Given the description of an element on the screen output the (x, y) to click on. 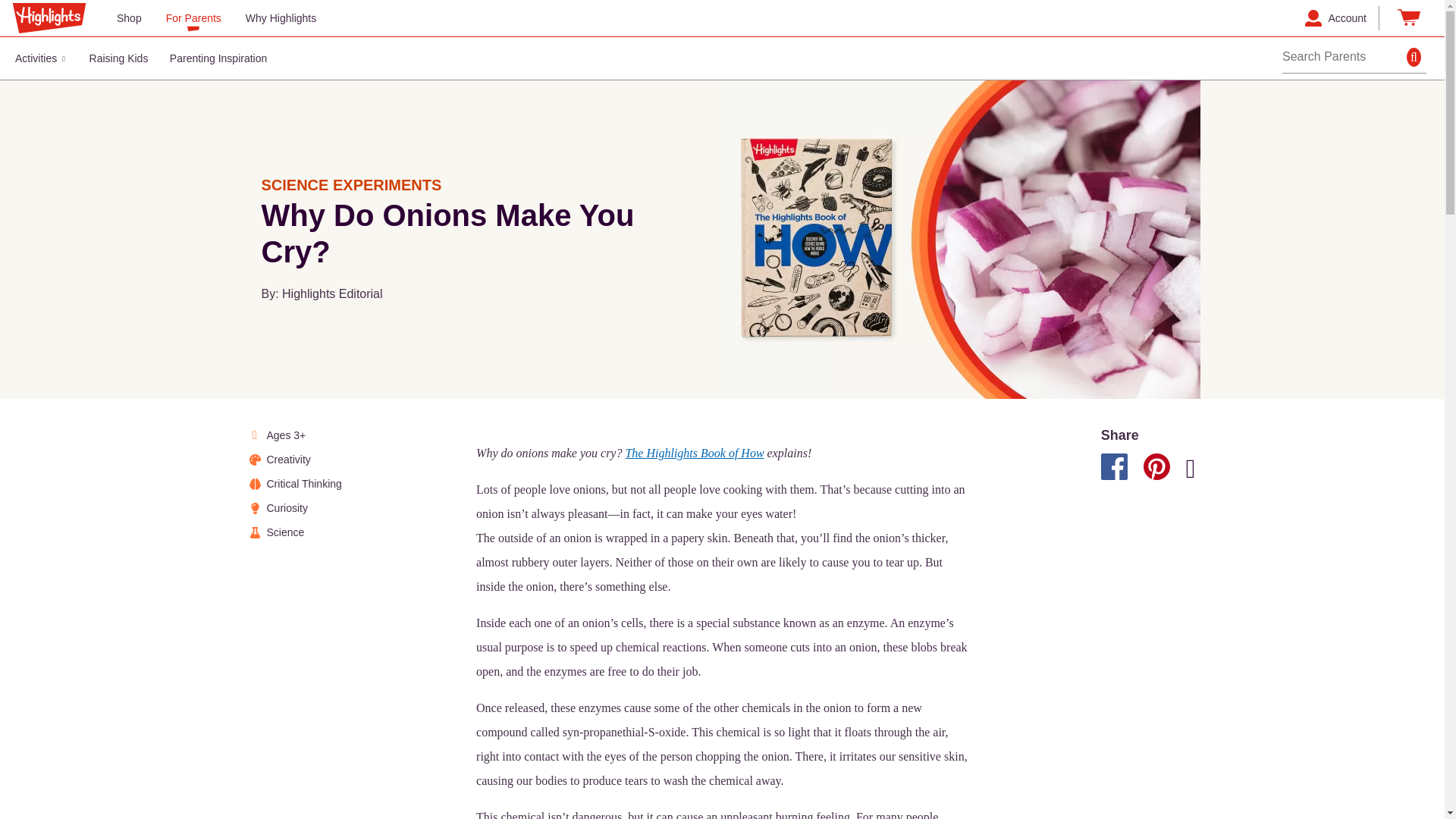
Parenting Inspiration (218, 57)
Account (1335, 17)
For Parents (193, 17)
Search (1416, 57)
Shop (128, 17)
Search (1416, 57)
The Highlights Book of How (693, 452)
Why Highlights (280, 17)
Raising Kids (118, 57)
Activities (40, 57)
